Given the description of an element on the screen output the (x, y) to click on. 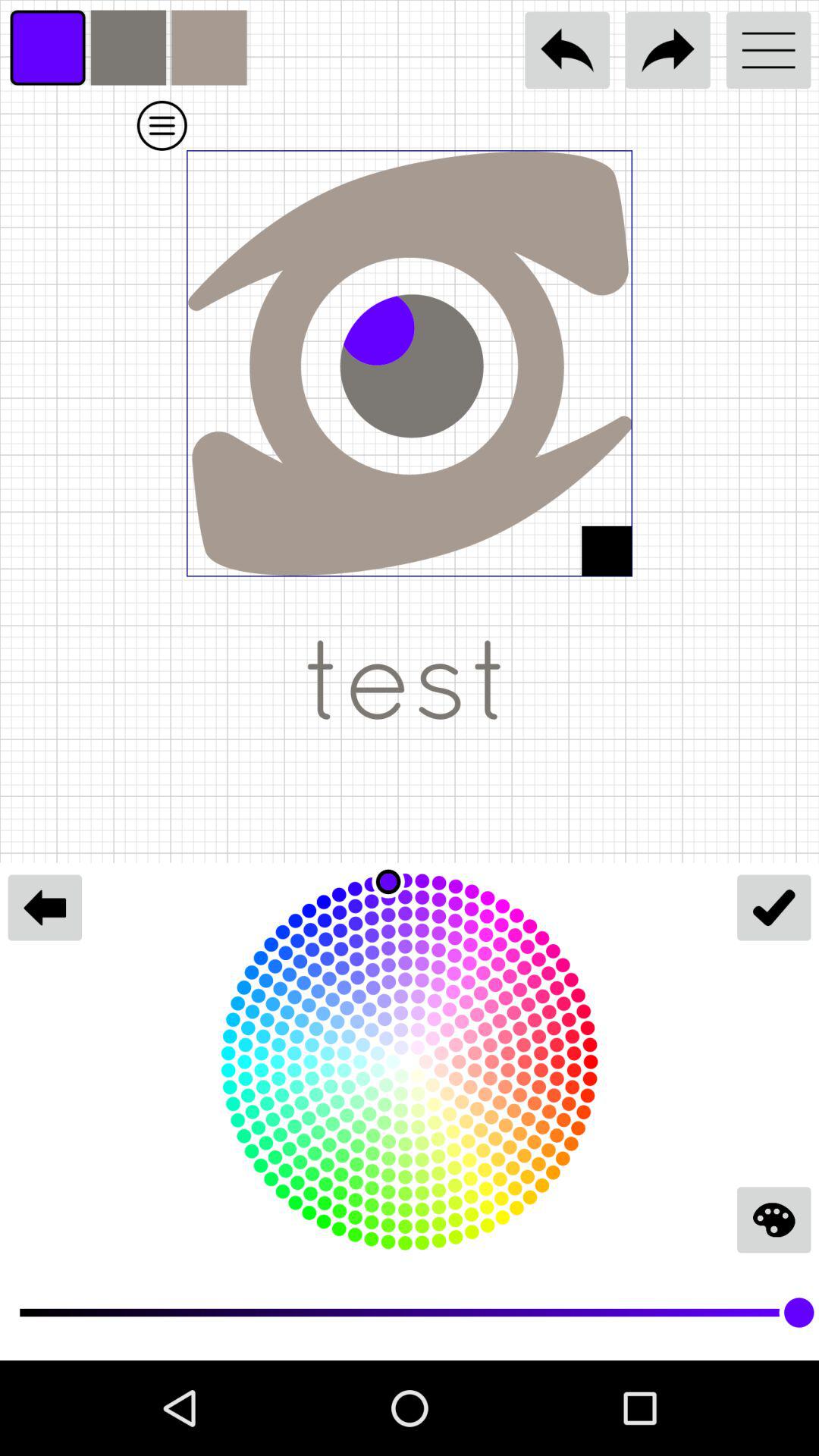
click on paint (774, 1219)
